Given the description of an element on the screen output the (x, y) to click on. 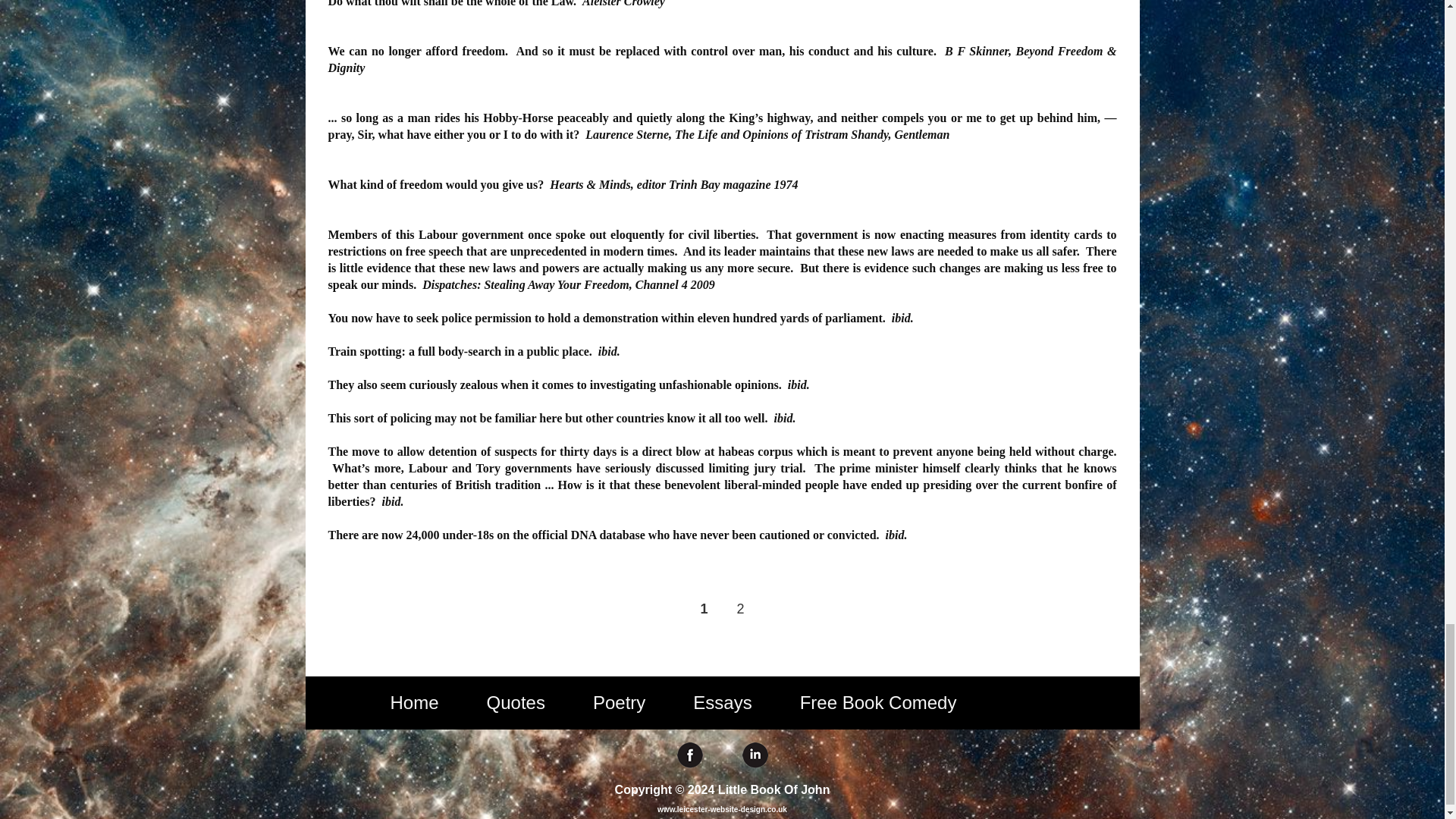
www.leicester-website-design.co.uk (722, 809)
